Given the description of an element on the screen output the (x, y) to click on. 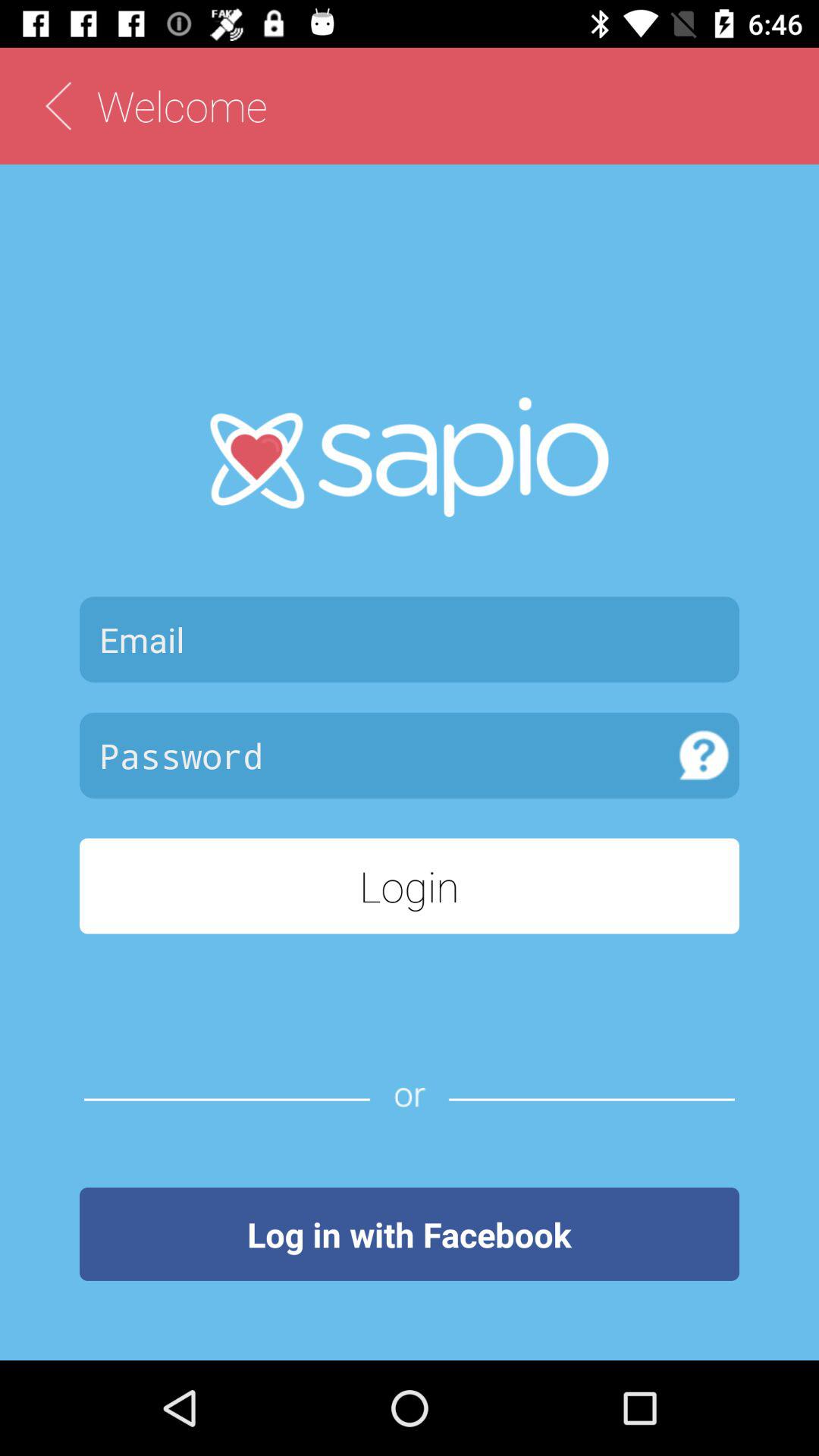
enter password (373, 755)
